Given the description of an element on the screen output the (x, y) to click on. 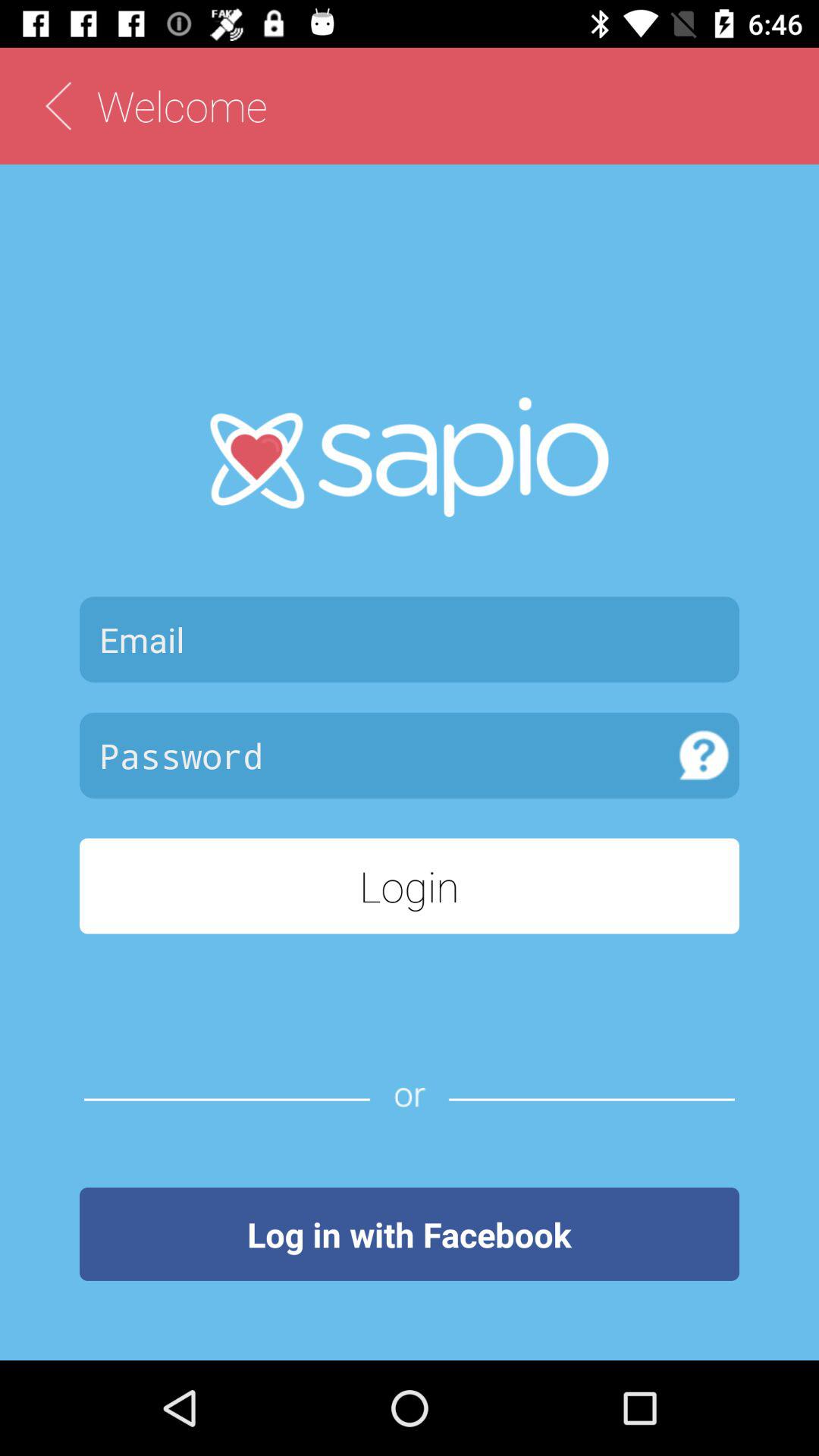
enter password (373, 755)
